Given the description of an element on the screen output the (x, y) to click on. 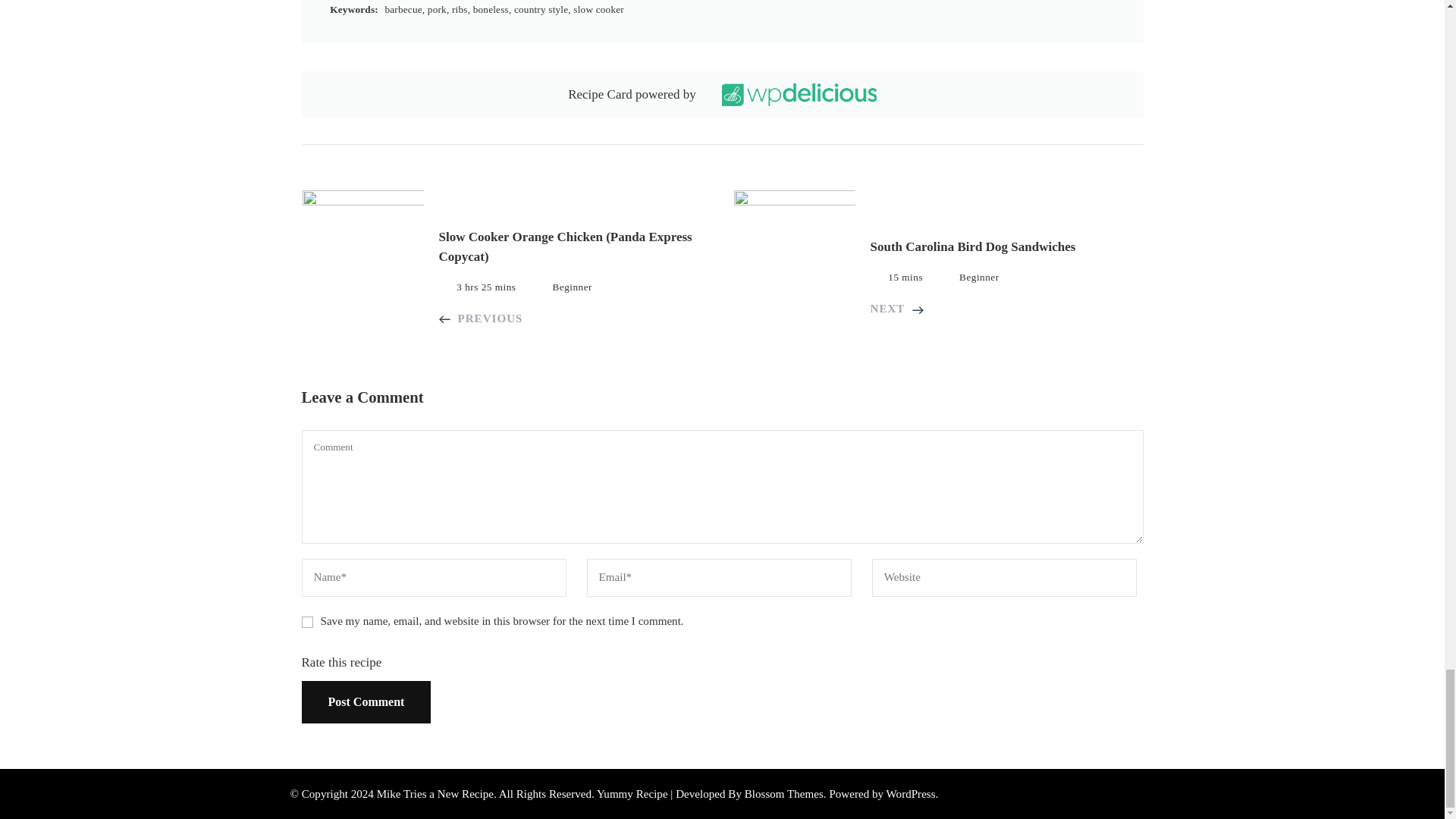
Post Comment (365, 701)
Post Comment (365, 701)
